Given the description of an element on the screen output the (x, y) to click on. 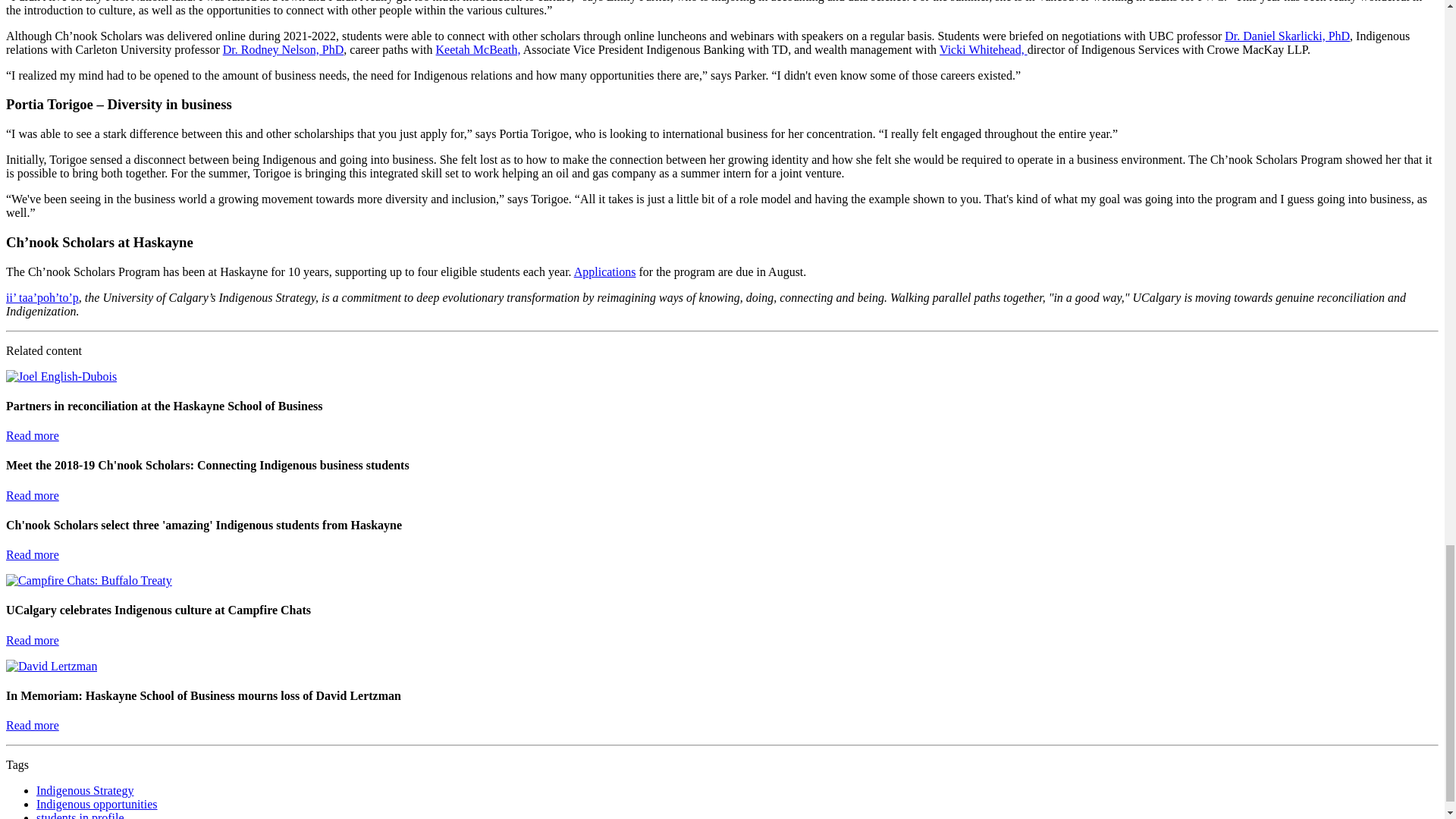
UCalgary celebrates Indigenous culture at Campfire Chats (32, 640)
UCalgary celebrates Indigenous culture at Campfire Chats (88, 580)
